Given the description of an element on the screen output the (x, y) to click on. 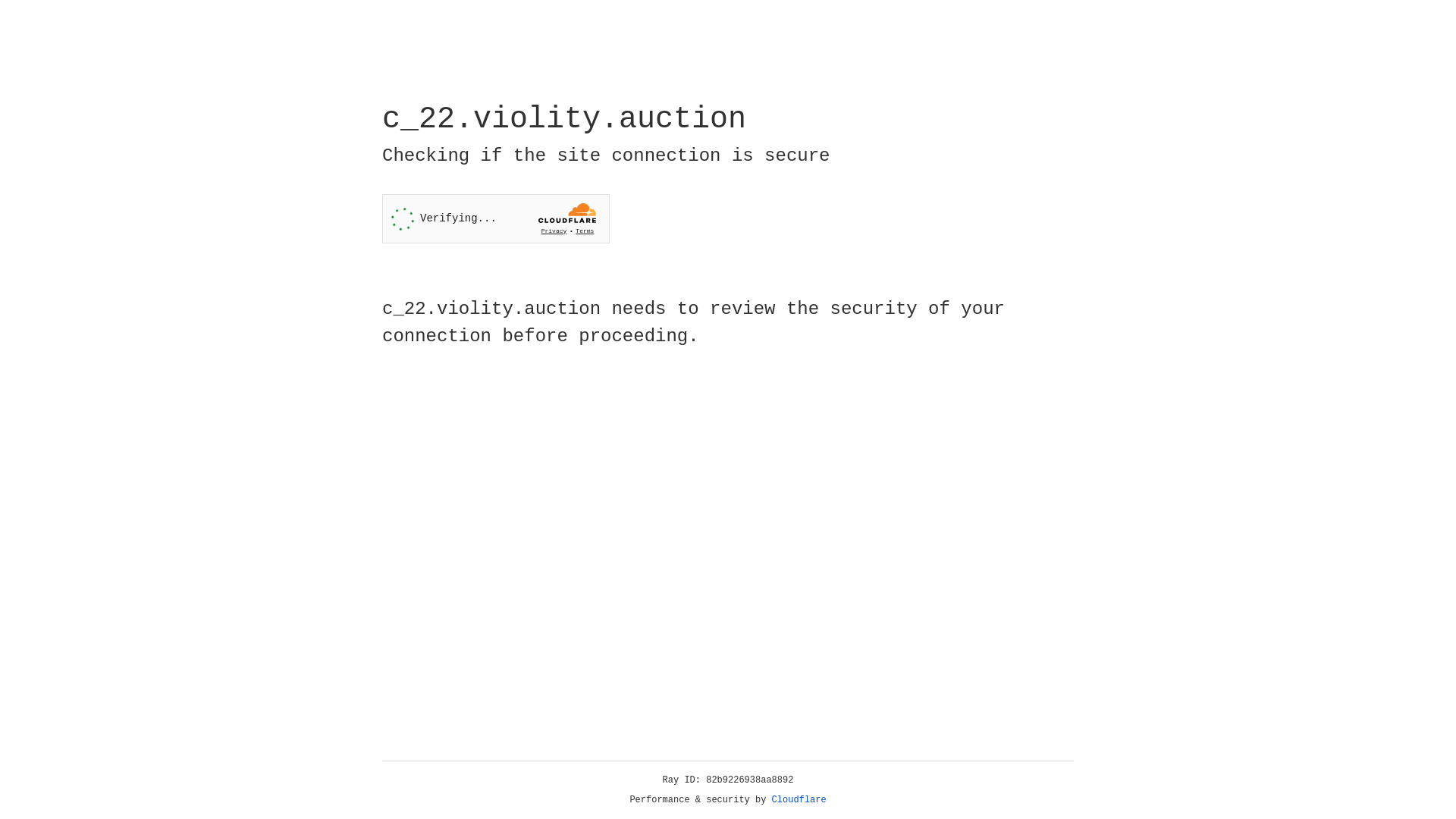
Widget containing a Cloudflare security challenge Element type: hover (495, 218)
Cloudflare Element type: text (798, 799)
